Given the description of an element on the screen output the (x, y) to click on. 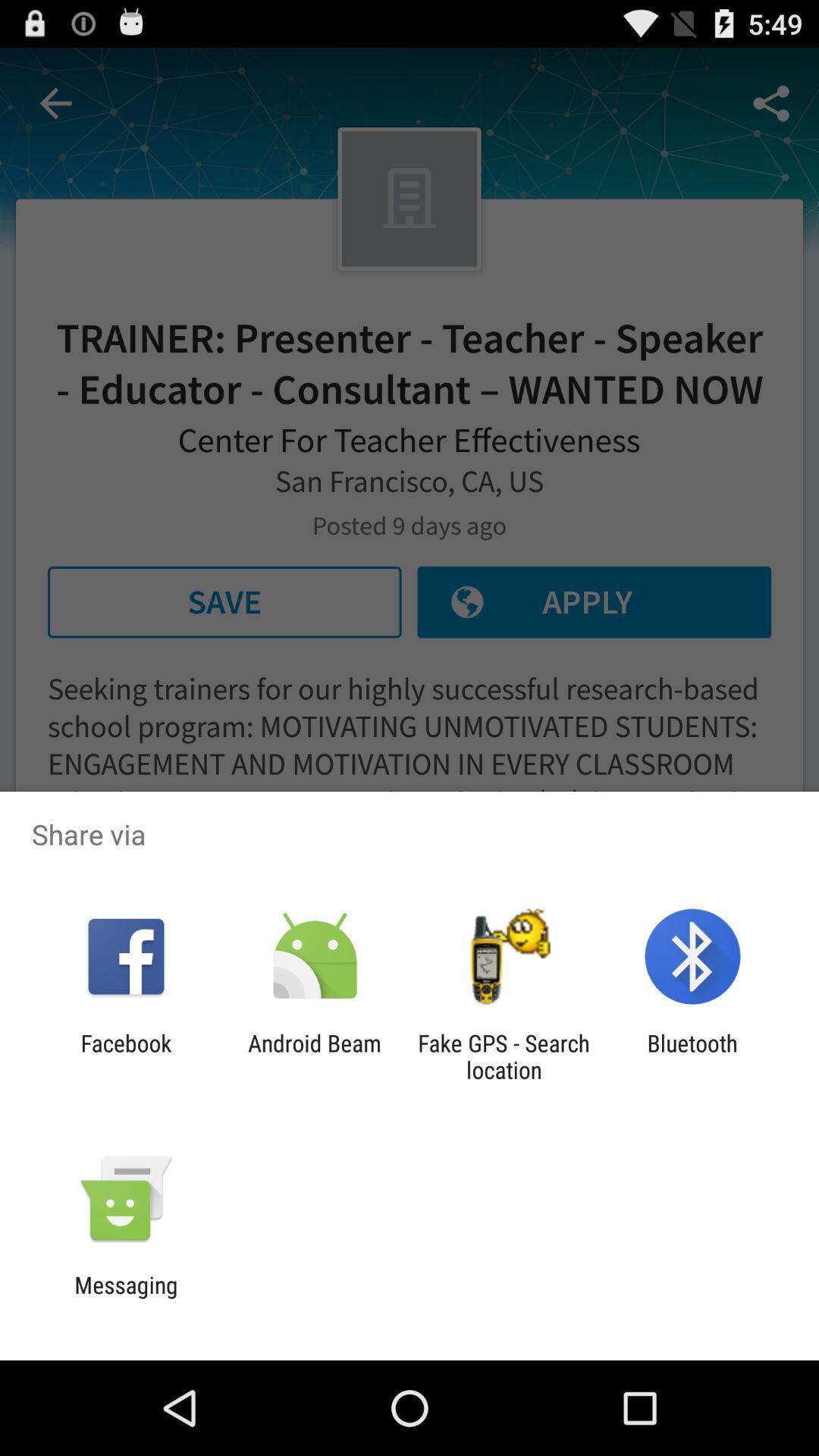
swipe until the facebook app (125, 1056)
